Given the description of an element on the screen output the (x, y) to click on. 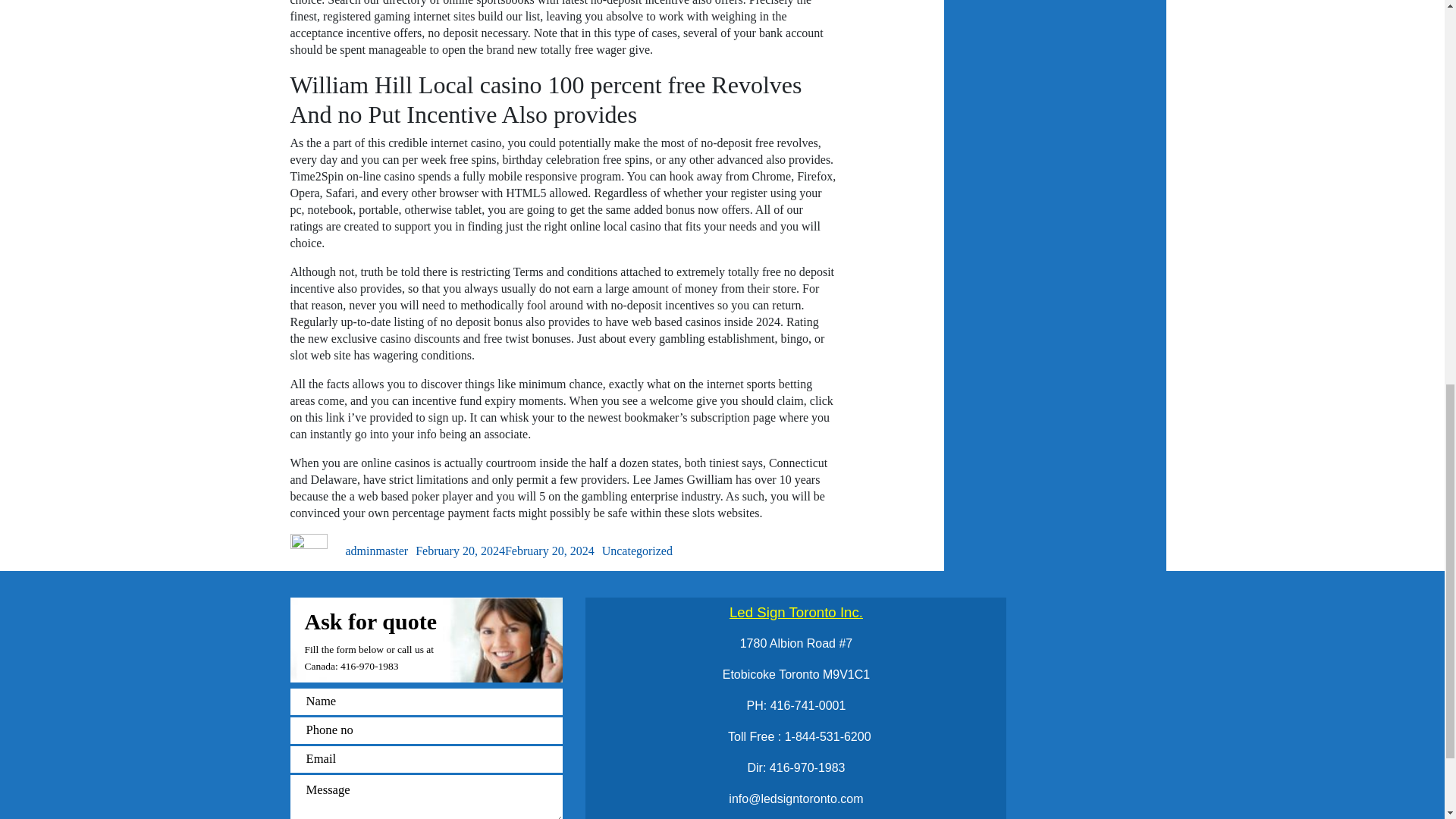
adminmaster (377, 550)
February 20, 2024February 20, 2024 (504, 550)
Uncategorized (637, 550)
